Given the description of an element on the screen output the (x, y) to click on. 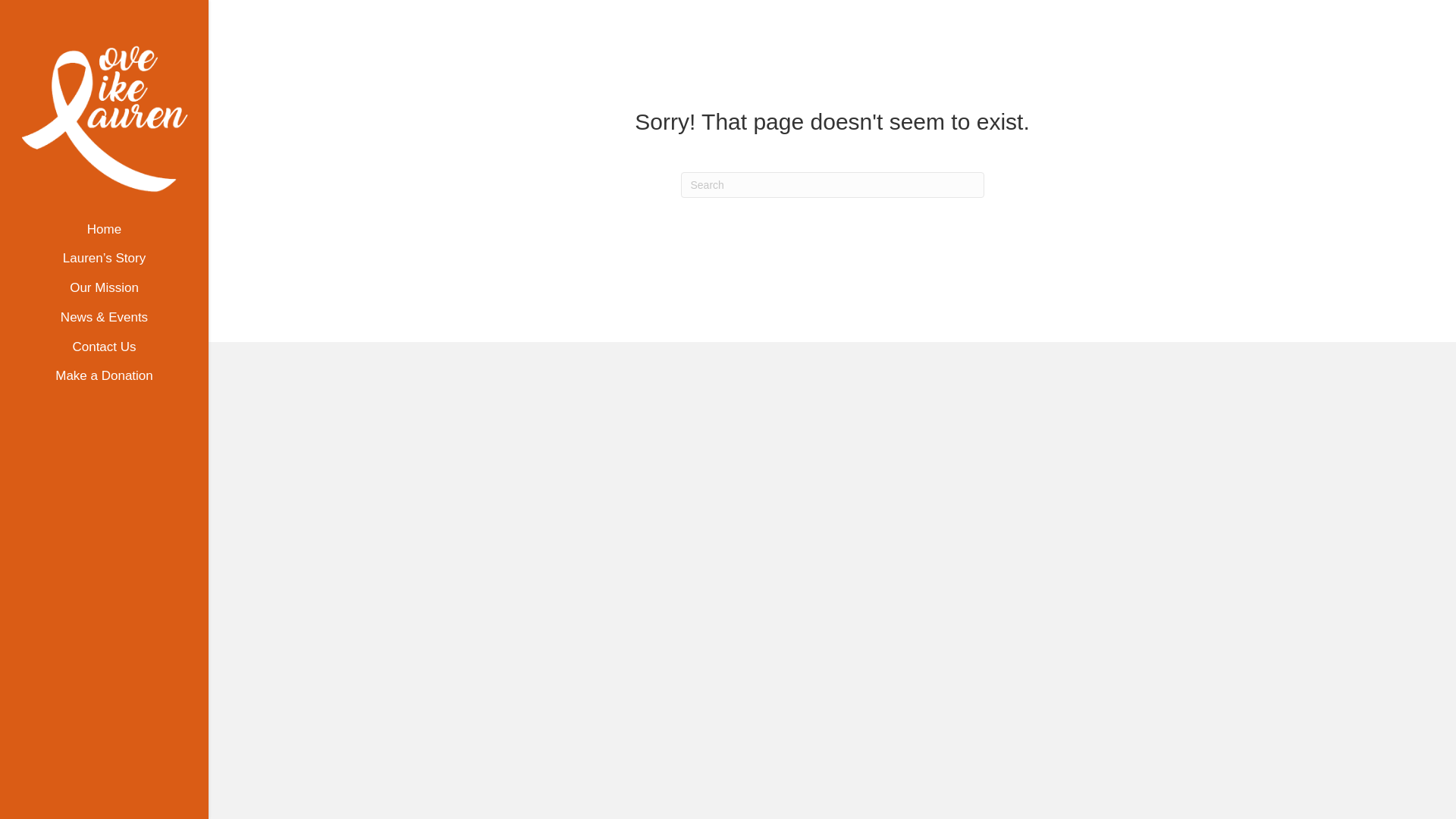
Home (104, 234)
Our Mission (104, 293)
Type and press Enter to search. (832, 184)
